Given the description of an element on the screen output the (x, y) to click on. 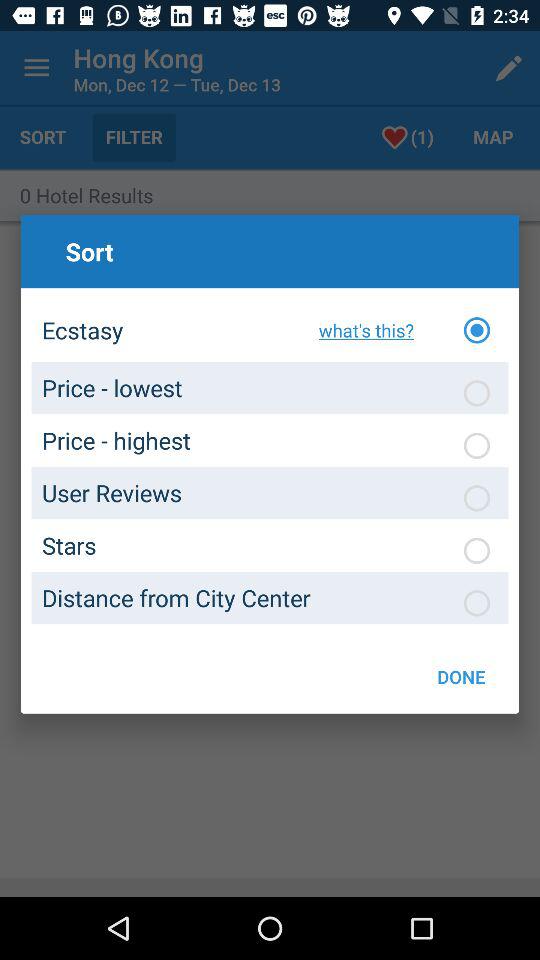
select article (477, 603)
